Given the description of an element on the screen output the (x, y) to click on. 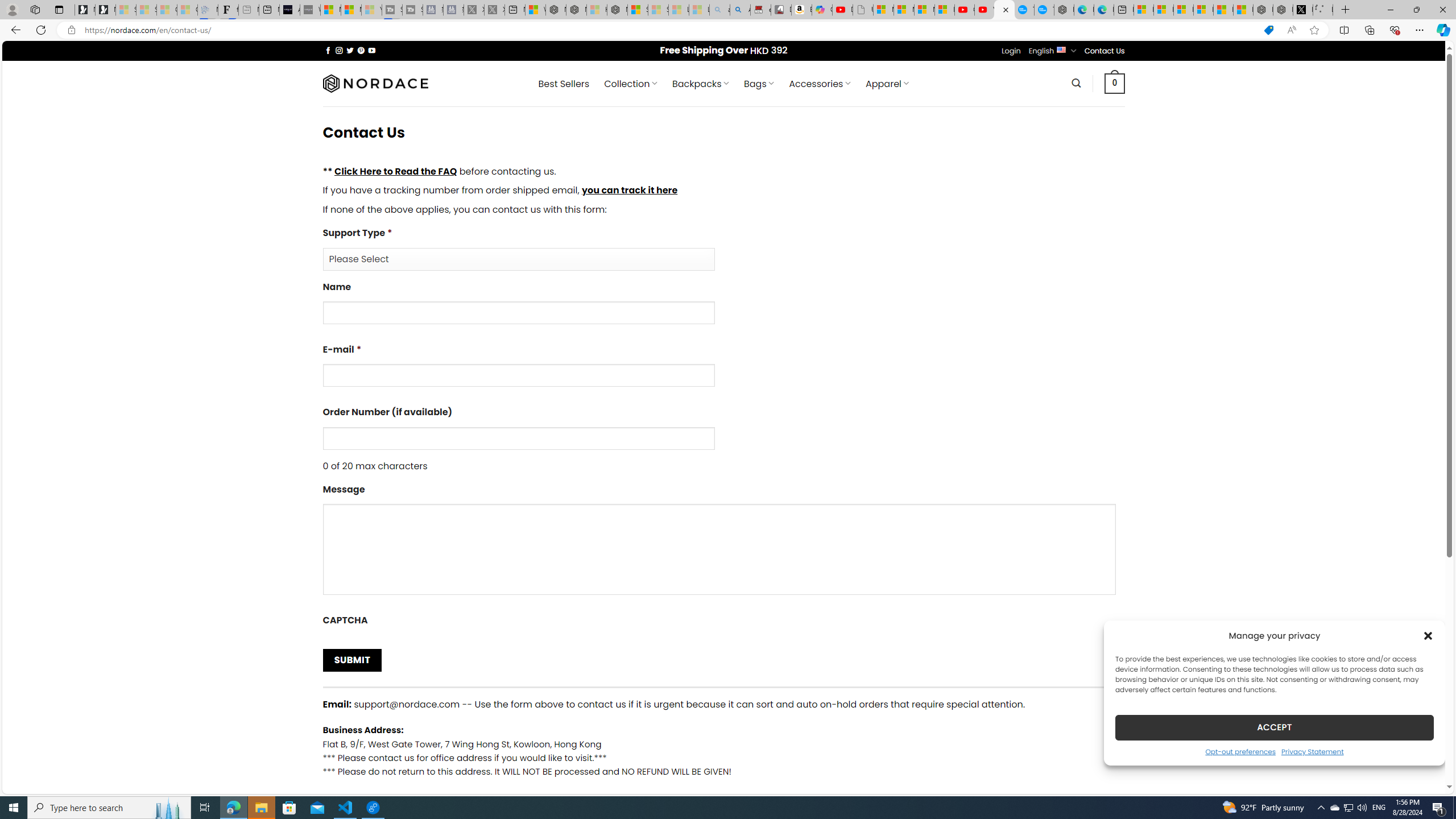
Message (718, 549)
Order Number (if available)0 of 20 max characters (723, 438)
What's the best AI voice generator? - voice.ai - Sleeping (309, 9)
ACCEPT (1274, 727)
The most popular Google 'how to' searches (1043, 9)
Support Type* (723, 248)
Nordace - Nordace Siena Is Not An Ordinary Backpack (616, 9)
